Given the description of an element on the screen output the (x, y) to click on. 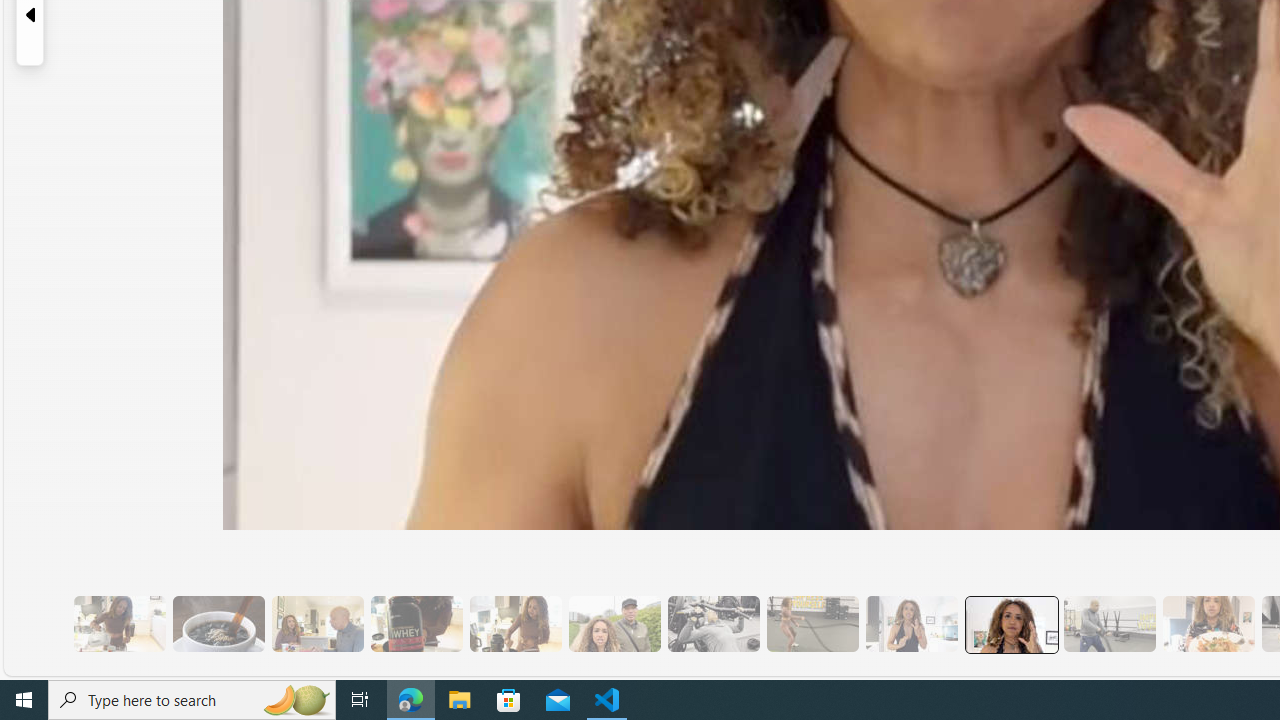
6 Since Eating More Protein Her Training Has Improved (416, 624)
10 Then, They Do HIIT Cardio (811, 624)
11 They Eat More Protein for Breakfast (911, 624)
14 They Have Salmon and Veggies for Dinner (1208, 624)
13 Her Husband Does Group Cardio Classs (1108, 624)
5 She Eats Less Than Her Husband (317, 624)
10 Then, They Do HIIT Cardio (811, 624)
8 They Walk to the Gym (614, 624)
9 They Do Bench Exercises (713, 624)
9 They Do Bench Exercises (713, 624)
8 Be Mindful of Coffee (217, 624)
